Given the description of an element on the screen output the (x, y) to click on. 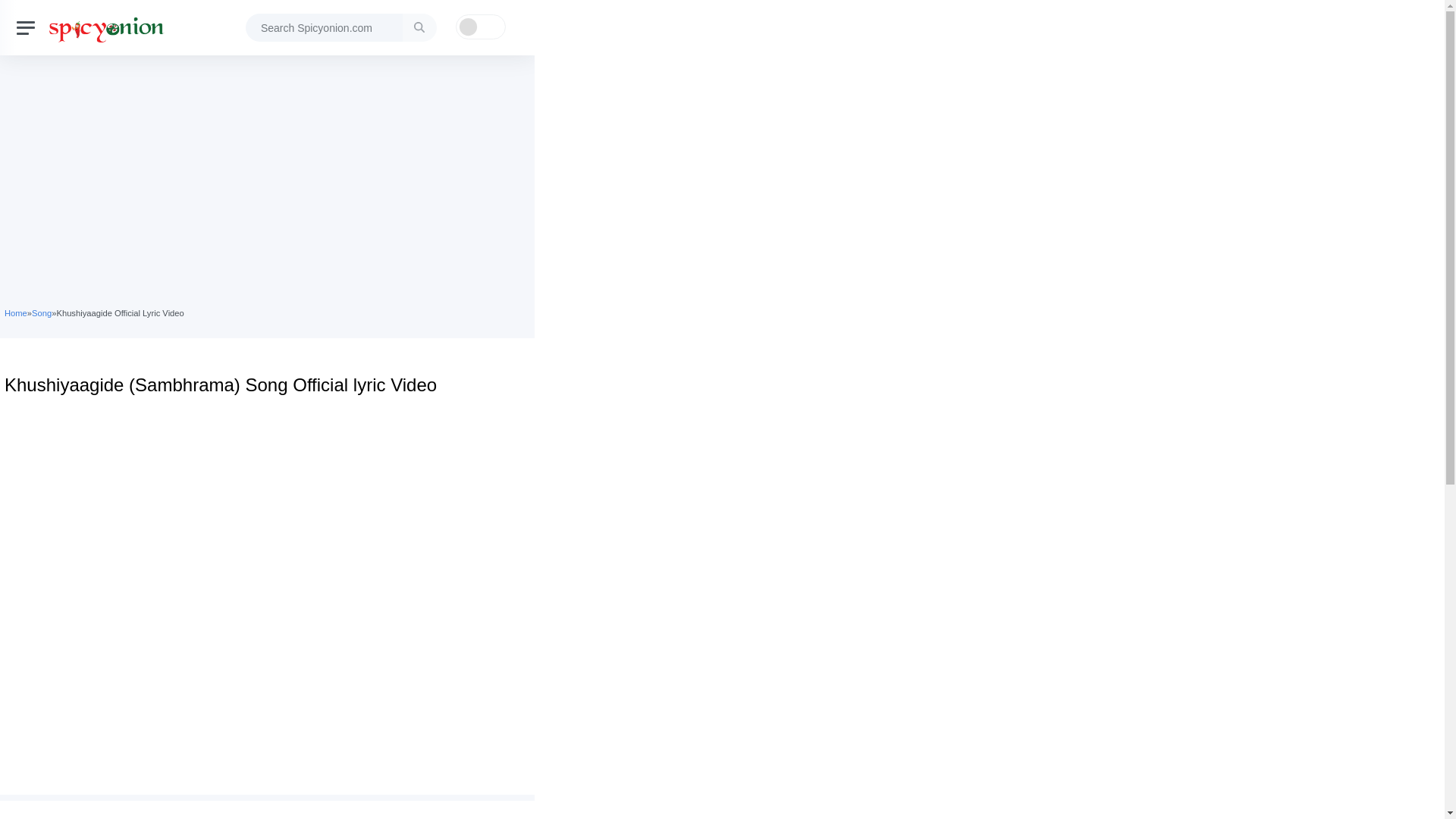
Search (418, 27)
on (479, 26)
